Given the description of an element on the screen output the (x, y) to click on. 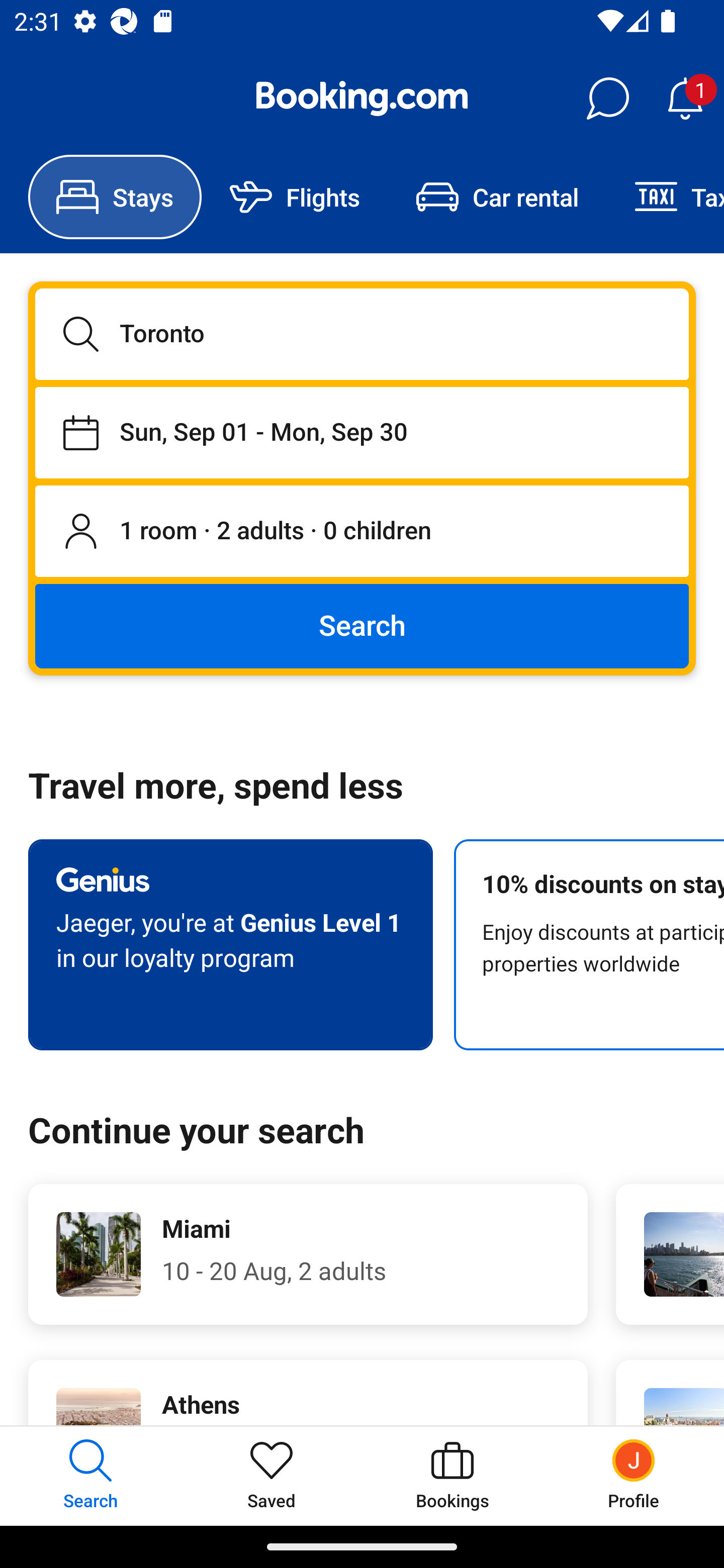
Messages (607, 98)
Notifications (685, 98)
Stays (114, 197)
Flights (294, 197)
Car rental (497, 197)
Taxi (665, 197)
Toronto (361, 333)
Staying from Sun, Sep 01 until Mon, Sep 30 (361, 432)
1 room, 2 adults, 0 children (361, 531)
Search (361, 625)
Miami 10 - 20 Aug, 2 adults (307, 1253)
Saved (271, 1475)
Bookings (452, 1475)
Profile (633, 1475)
